Given the description of an element on the screen output the (x, y) to click on. 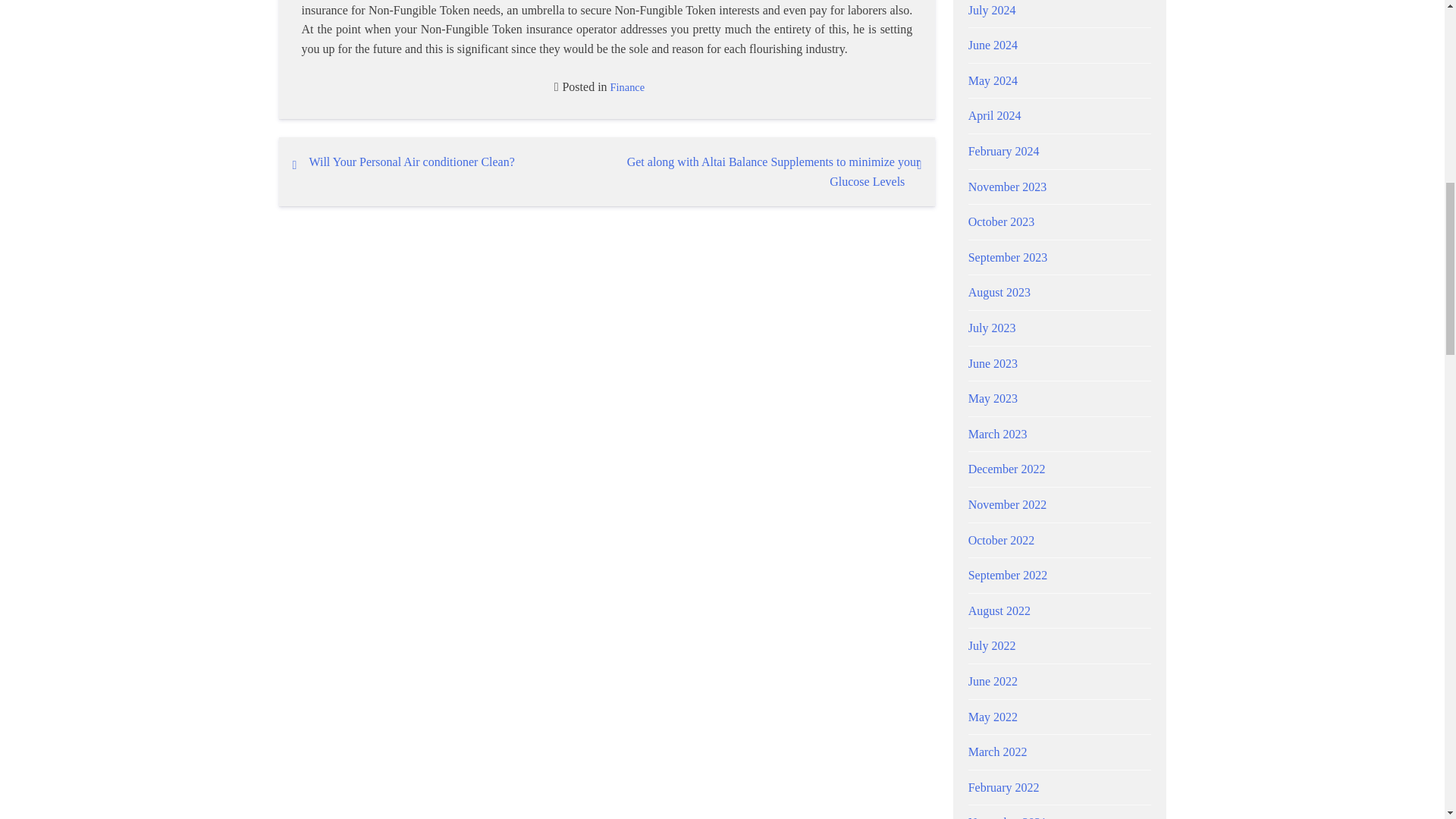
June 2023 (992, 363)
April 2024 (995, 115)
February 2024 (1003, 151)
May 2024 (992, 80)
March 2023 (997, 433)
June 2022 (992, 680)
Will Your Personal Air conditioner Clean? (411, 161)
August 2022 (999, 610)
November 2022 (1007, 504)
August 2023 (999, 291)
September 2023 (1007, 256)
July 2022 (992, 645)
May 2022 (992, 716)
March 2022 (997, 751)
